Given the description of an element on the screen output the (x, y) to click on. 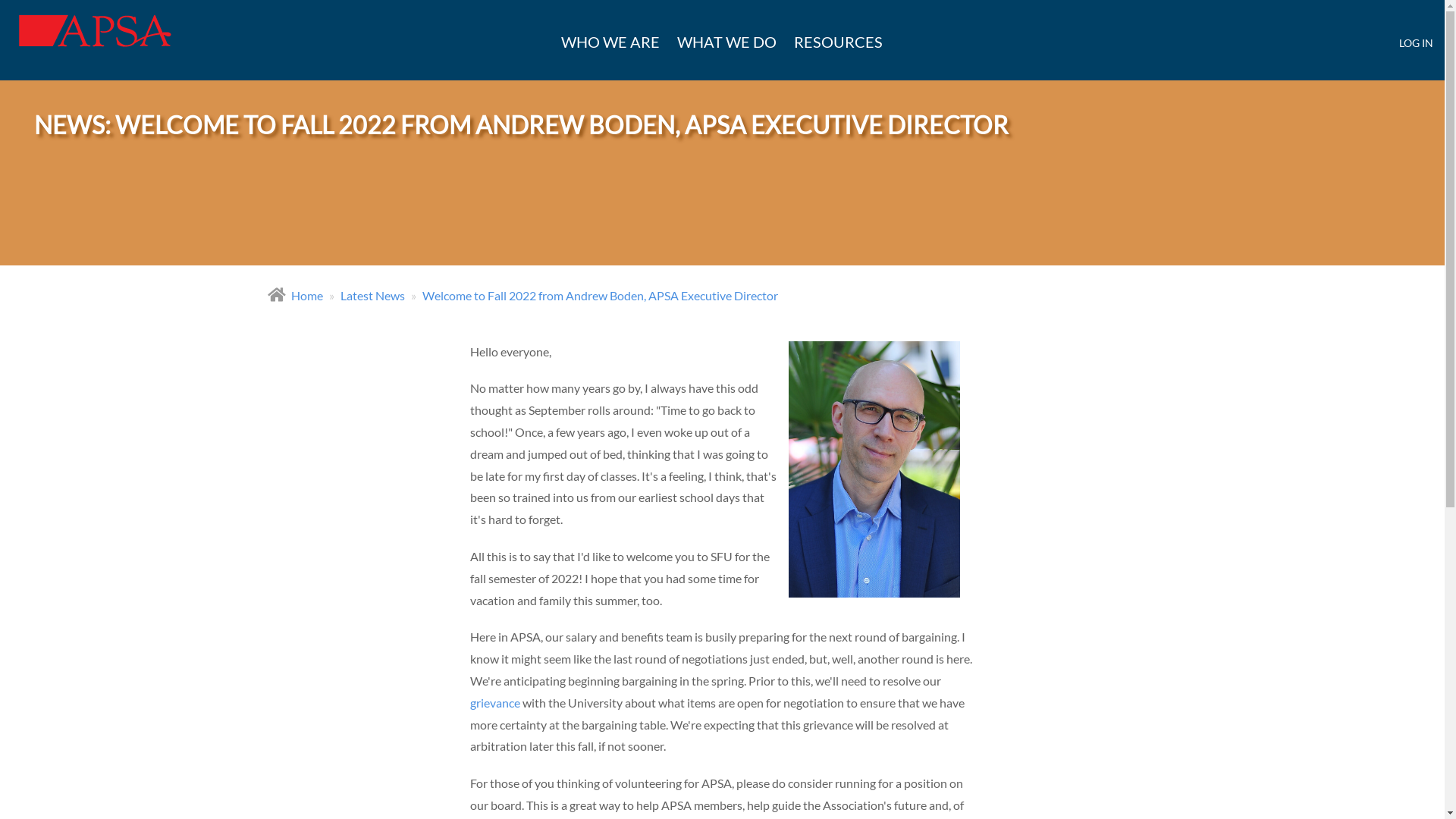
RESOURCES Element type: text (838, 41)
WHO WE ARE Element type: text (610, 41)
WHAT WE DO Element type: text (726, 41)
LOG IN Element type: text (1416, 42)
Andrew Boden: APSA Executive Director Element type: hover (869, 469)
grievance Element type: text (495, 702)
Home Element type: text (307, 295)
Latest News Element type: text (371, 295)
Home Element type: hover (94, 41)
